Given the description of an element on the screen output the (x, y) to click on. 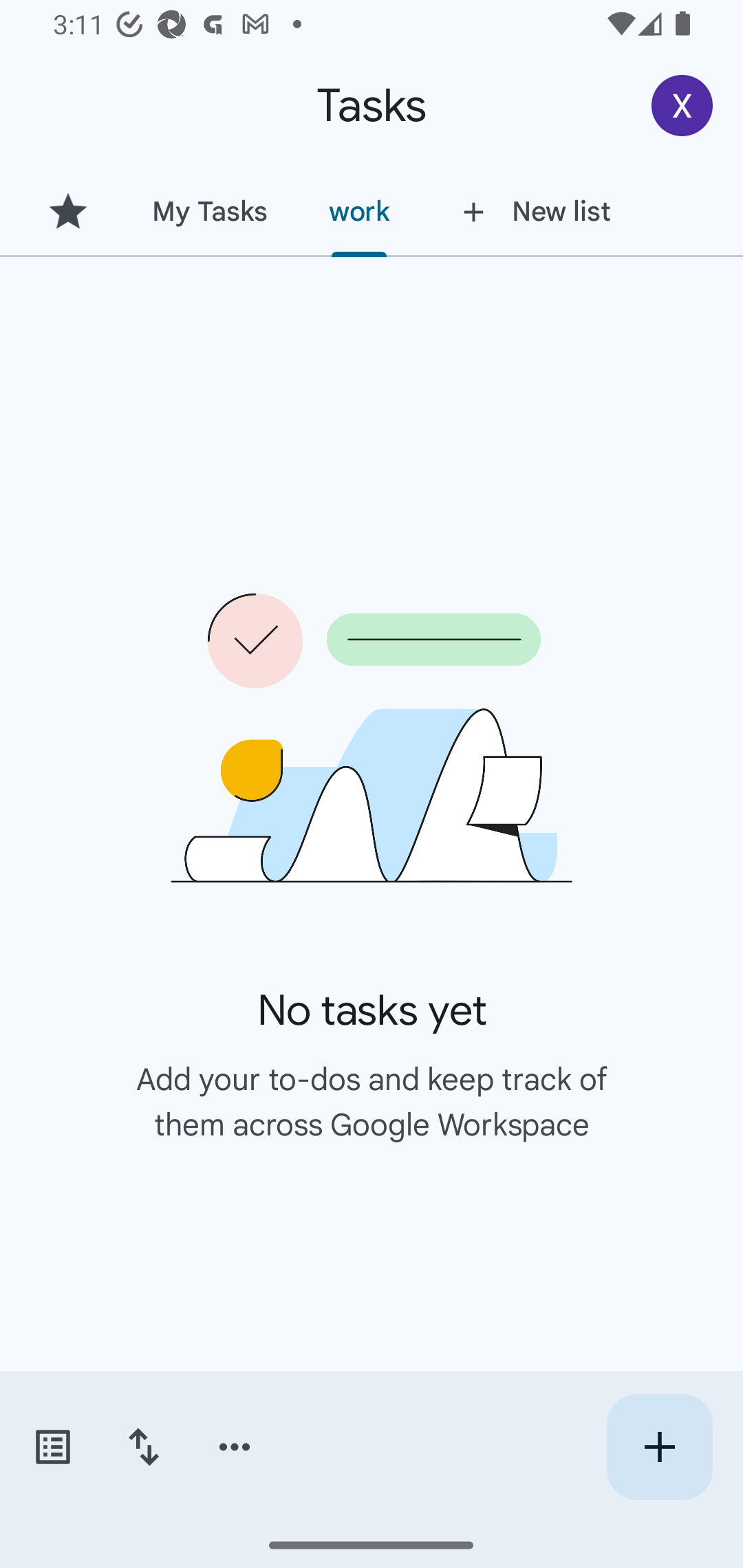
Starred (67, 211)
My Tasks (209, 211)
New list (530, 211)
Switch task lists (52, 1447)
Create new task (659, 1446)
Change sort order (143, 1446)
More options (234, 1446)
